Given the description of an element on the screen output the (x, y) to click on. 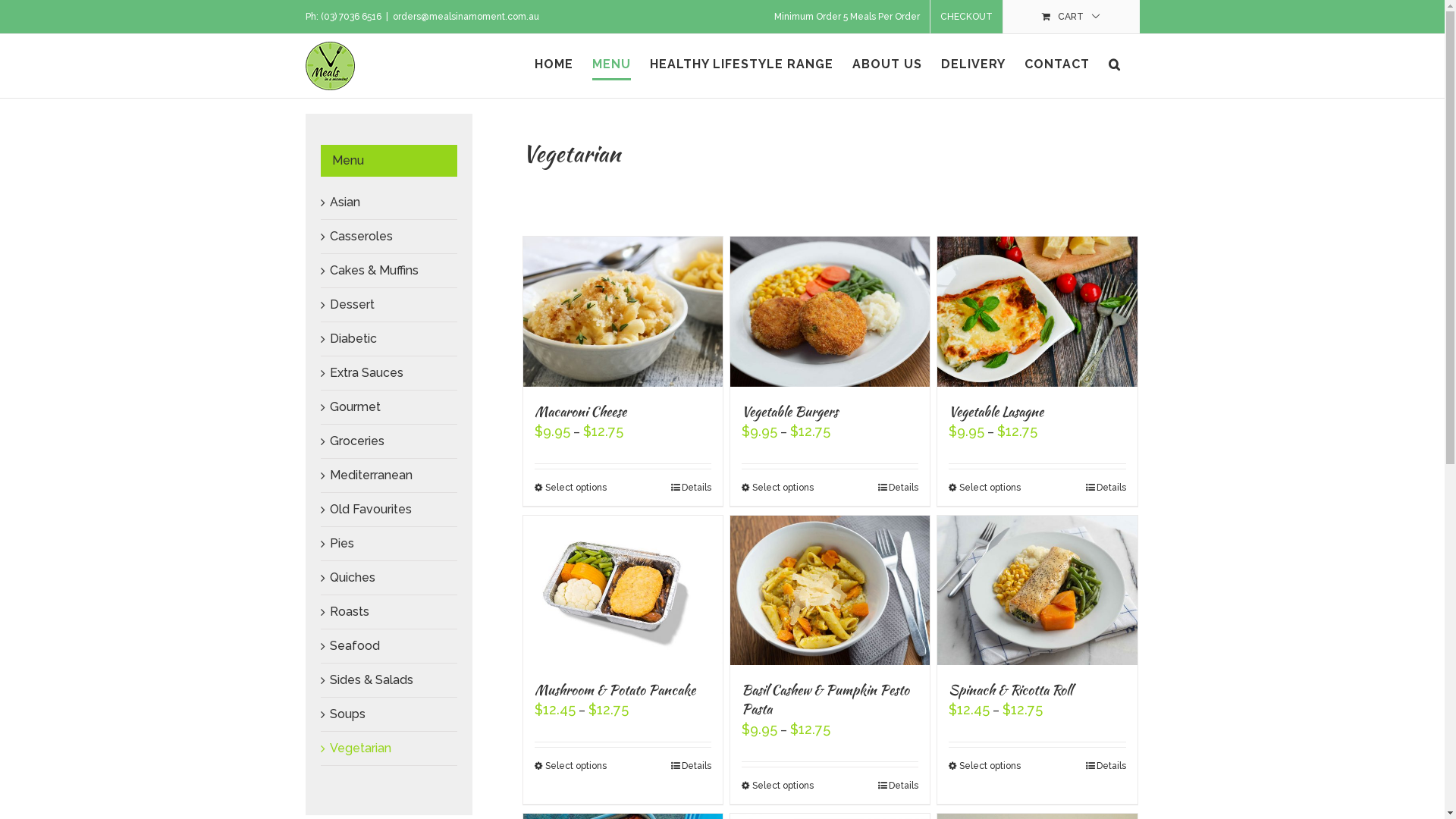
Mushroom & Potato Pancake Element type: text (613, 689)
Details Element type: text (1105, 765)
Spinach & Ricotta Roll Element type: text (1010, 689)
Select options Element type: text (569, 765)
Vegetarian Element type: text (359, 747)
Roasts Element type: text (348, 611)
orders@mealsinamoment.com.au Element type: text (465, 16)
Minimum Order 5 Meals Per Order Element type: text (846, 16)
Pies Element type: text (341, 543)
Select options Element type: text (777, 487)
Casseroles Element type: text (360, 236)
Search Element type: hover (1114, 64)
Mediterranean Element type: text (370, 474)
Sides & Salads Element type: text (370, 679)
ABOUT US Element type: text (887, 64)
Extra Sauces Element type: text (365, 372)
Macaroni Cheese Element type: text (579, 411)
Seafood Element type: text (354, 645)
Details Element type: text (1105, 487)
Details Element type: text (691, 765)
Select options Element type: text (569, 487)
Vegetable Lasagne Element type: text (995, 411)
CART Element type: text (1070, 16)
Dessert Element type: text (351, 304)
DELIVERY Element type: text (972, 64)
HEALTHY LIFESTYLE RANGE Element type: text (740, 64)
Select options Element type: text (777, 785)
Soups Element type: text (346, 713)
Select options Element type: text (984, 765)
Select options Element type: text (984, 487)
CONTACT Element type: text (1055, 64)
Old Favourites Element type: text (370, 509)
Cakes & Muffins Element type: text (373, 270)
Gourmet Element type: text (354, 406)
Asian Element type: text (344, 201)
Details Element type: text (898, 785)
Diabetic Element type: text (352, 338)
Details Element type: text (691, 487)
Details Element type: text (898, 487)
CHECKOUT Element type: text (965, 16)
MENU Element type: text (610, 64)
Vegetable Burgers Element type: text (789, 411)
HOME Element type: text (552, 64)
Quiches Element type: text (351, 577)
Groceries Element type: text (356, 440)
Basil Cashew & Pumpkin Pesto Pasta Element type: text (825, 698)
